Given the description of an element on the screen output the (x, y) to click on. 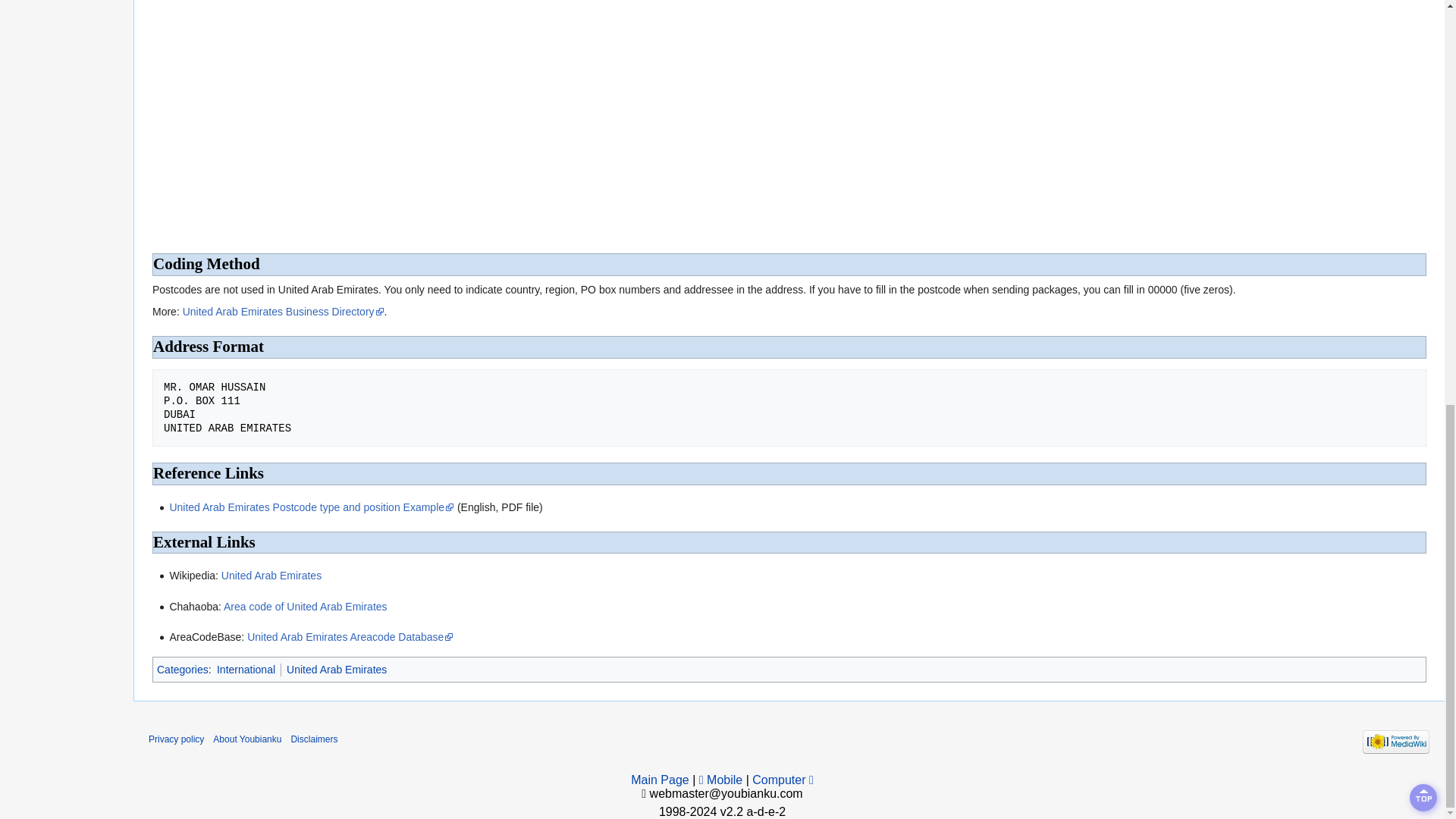
United Arab Emirates Areacode Database (349, 636)
Category:United Arab Emirates (336, 668)
Category:International (245, 668)
chahaoba:United Arab Emirates (305, 606)
International (245, 668)
Categories (182, 668)
United Arab Emirates (271, 575)
Special:Categories (182, 668)
United Arab Emirates Business Directory (283, 311)
en.wikipedia:United Arab Emirates (271, 575)
